Given the description of an element on the screen output the (x, y) to click on. 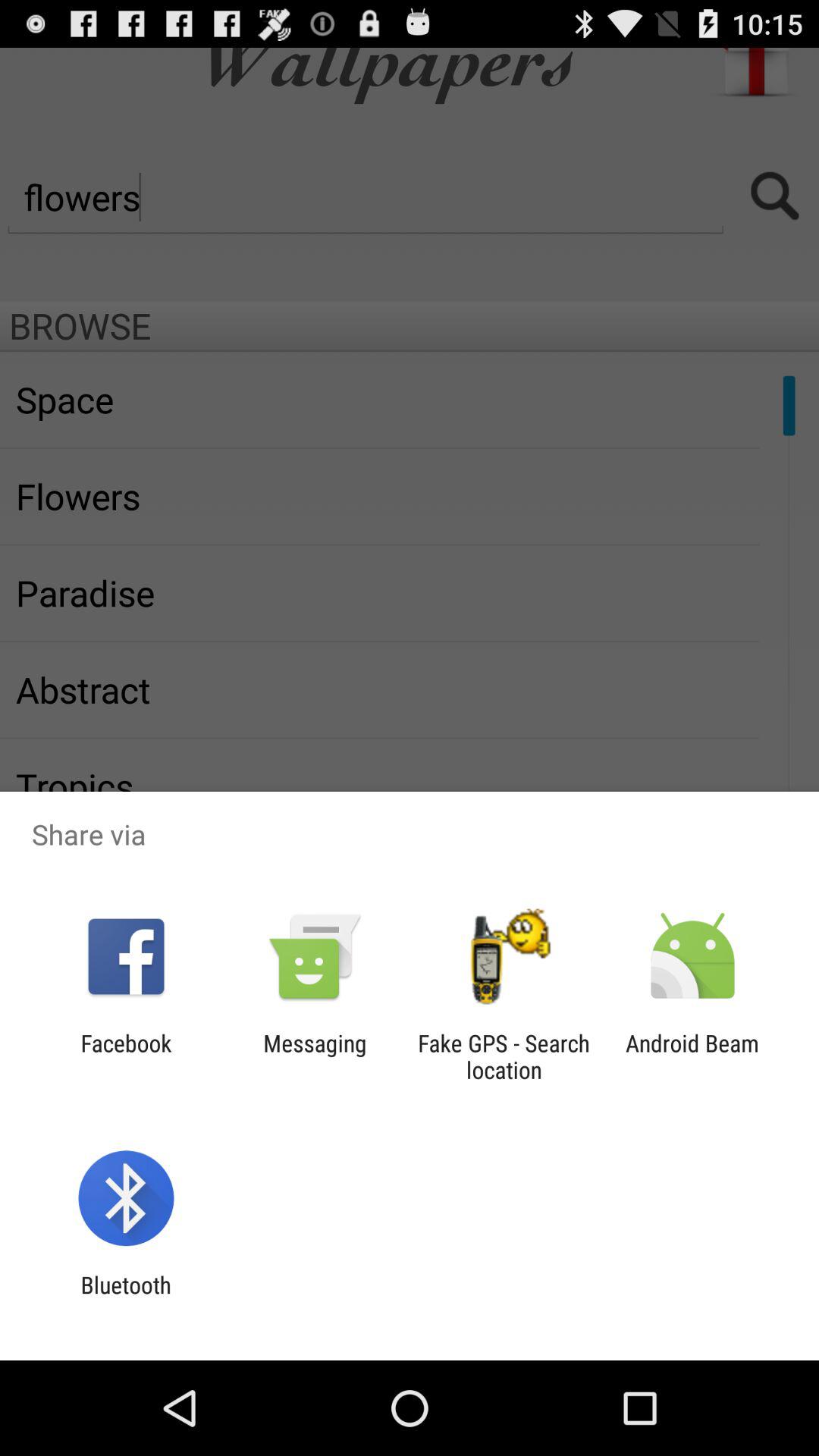
launch app to the right of fake gps search (692, 1056)
